Given the description of an element on the screen output the (x, y) to click on. 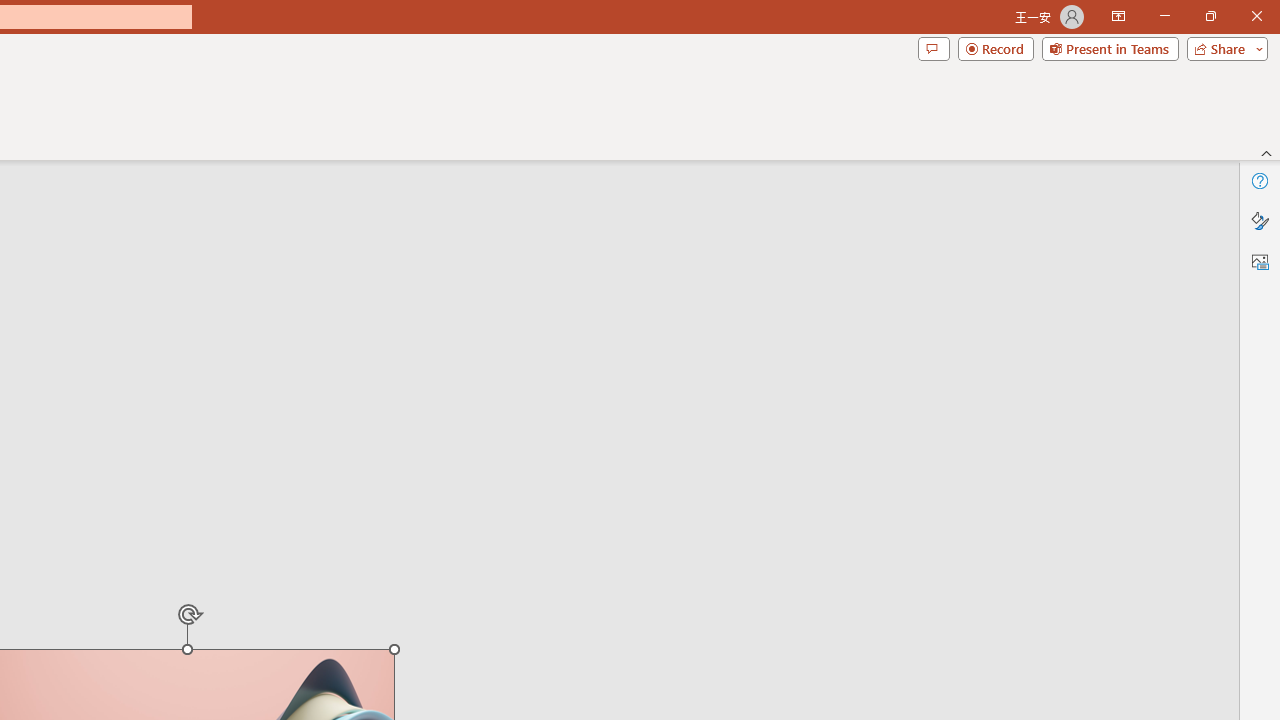
Format Picture (1260, 220)
